Given the description of an element on the screen output the (x, y) to click on. 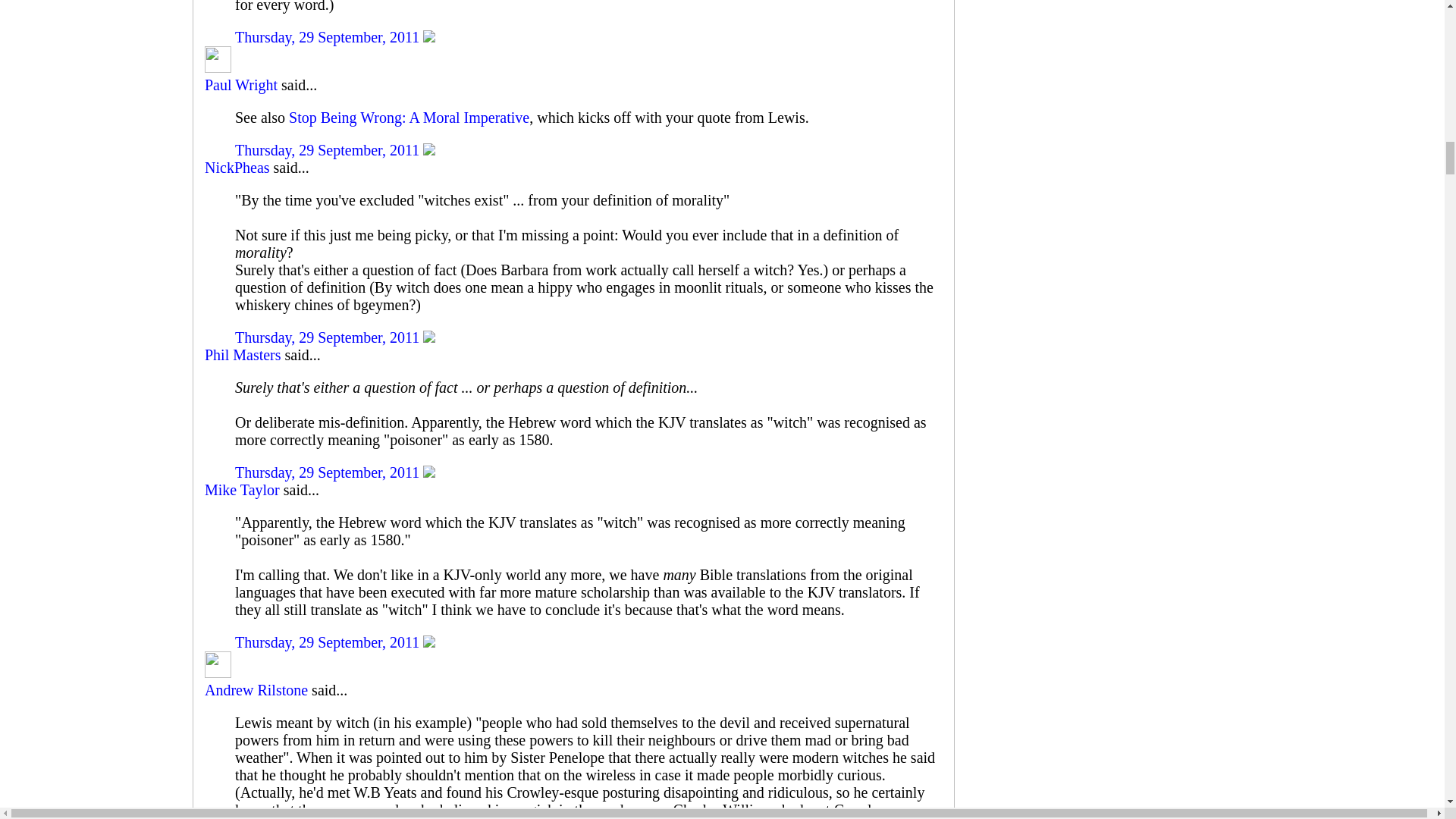
Thursday, 29 September, 2011 (328, 36)
Stop Being Wrong: A Moral Imperative (408, 117)
Thursday, 29 September, 2011 (328, 149)
Paul Wright (241, 84)
